Given the description of an element on the screen output the (x, y) to click on. 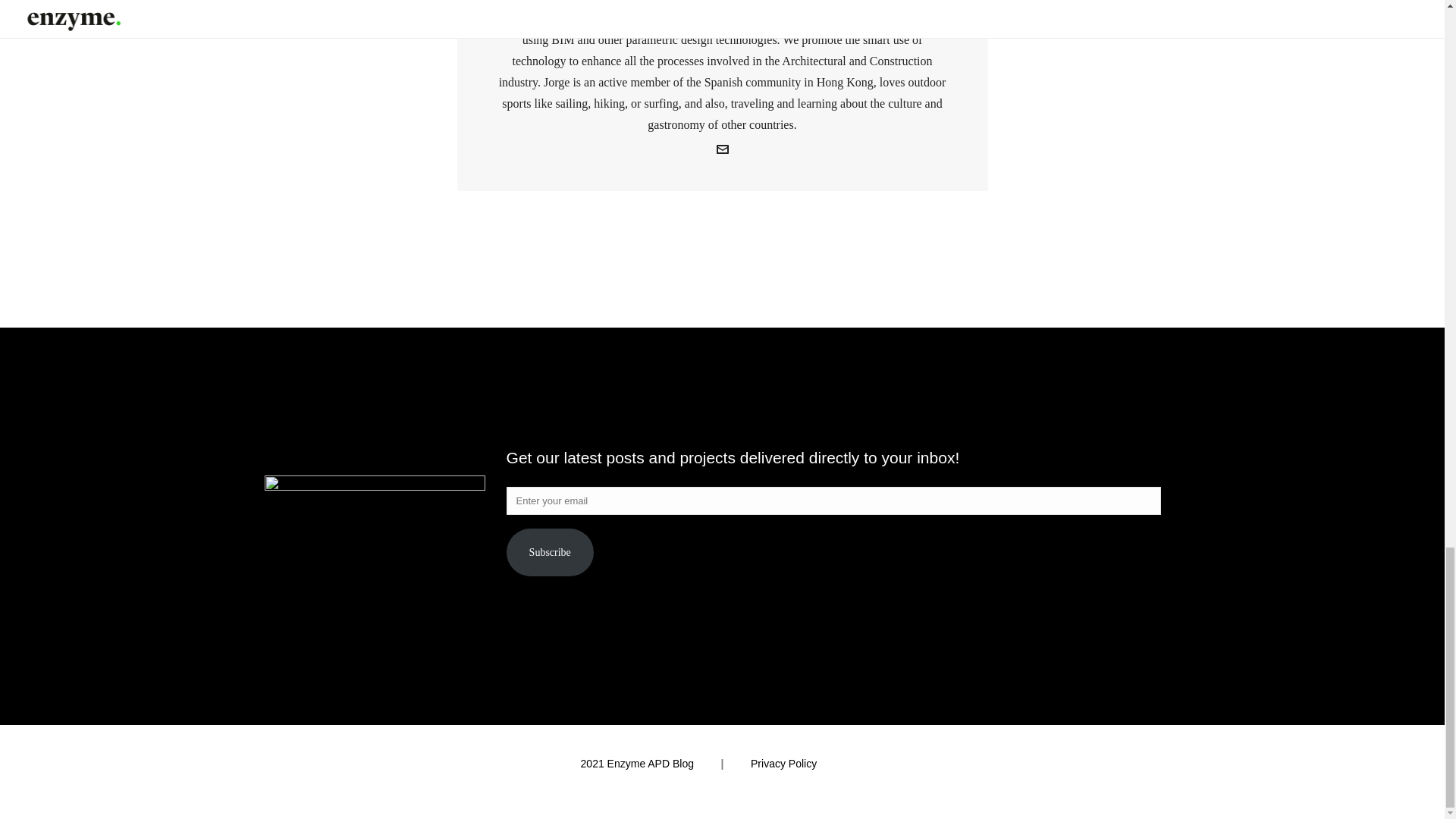
Subscribe (550, 552)
Enter your email (833, 500)
Privacy Policy (783, 763)
Get in touch with me via email (722, 152)
